Given the description of an element on the screen output the (x, y) to click on. 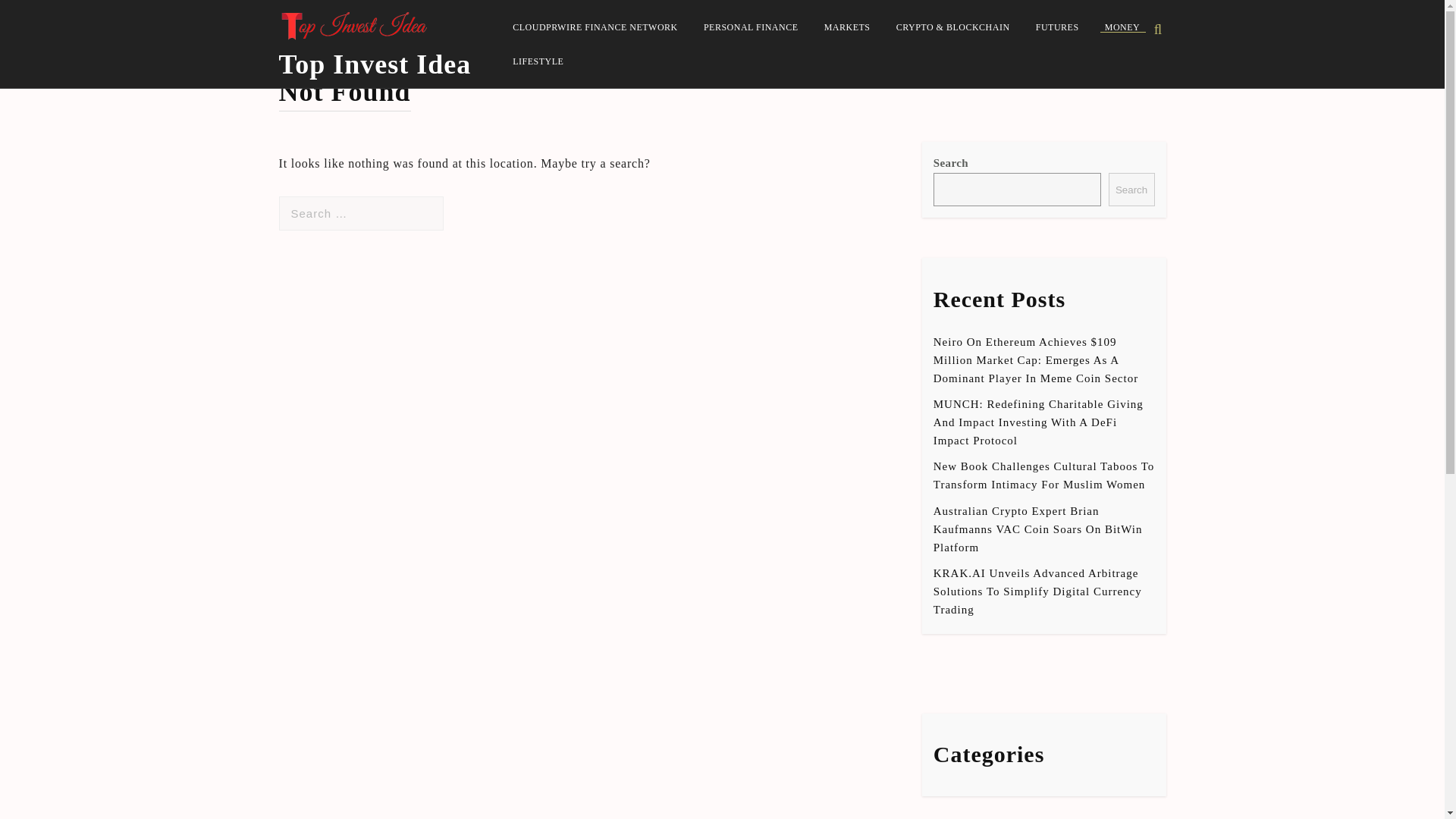
Top Invest Idea (375, 64)
MARKETS (847, 27)
Search (1131, 189)
CLOUDPRWIRE FINANCE NETWORK (594, 27)
FUTURES (1057, 27)
PERSONAL FINANCE (751, 27)
Search (37, 13)
